Given the description of an element on the screen output the (x, y) to click on. 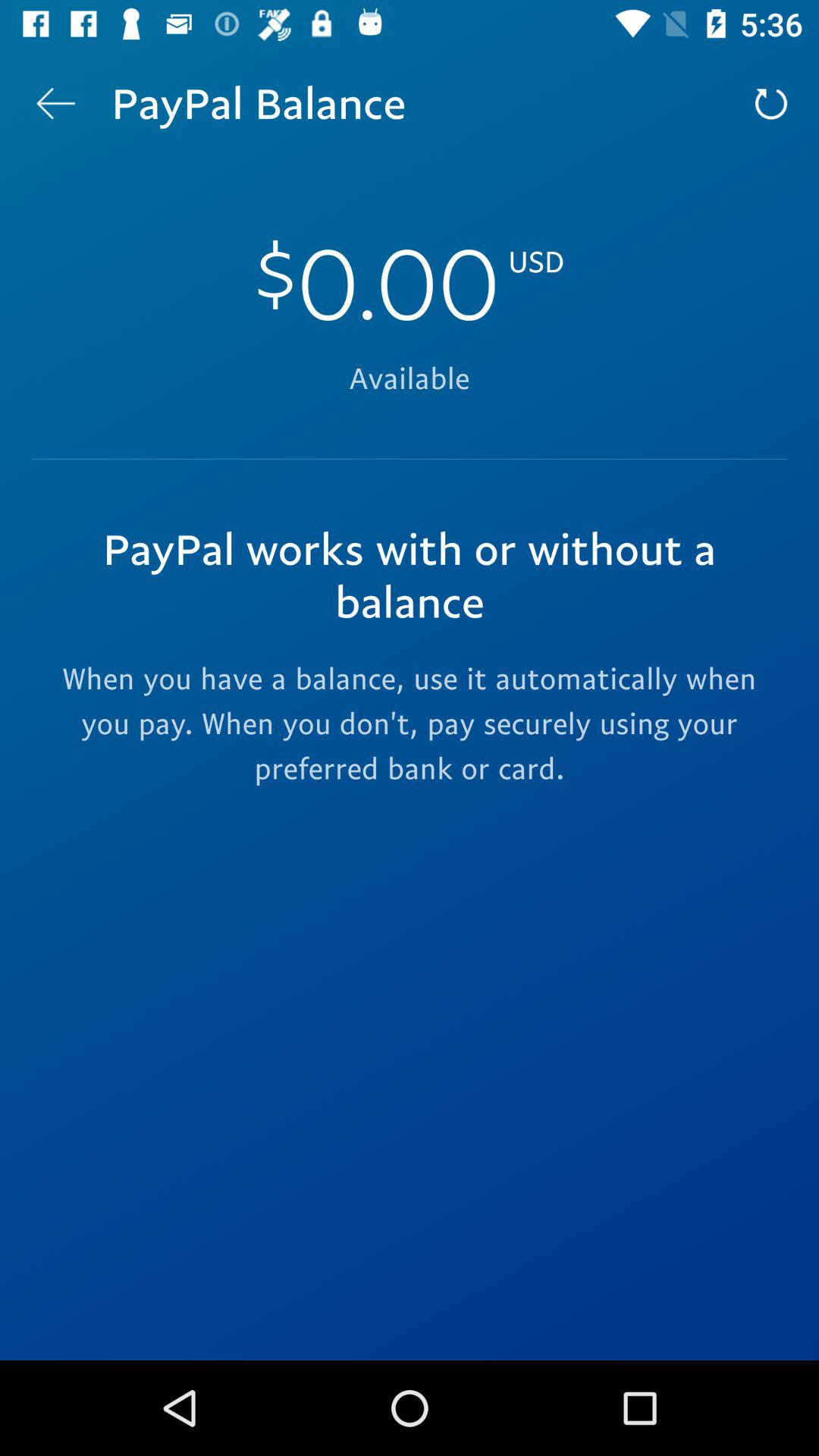
click the item next to the paypal balance (55, 103)
